Given the description of an element on the screen output the (x, y) to click on. 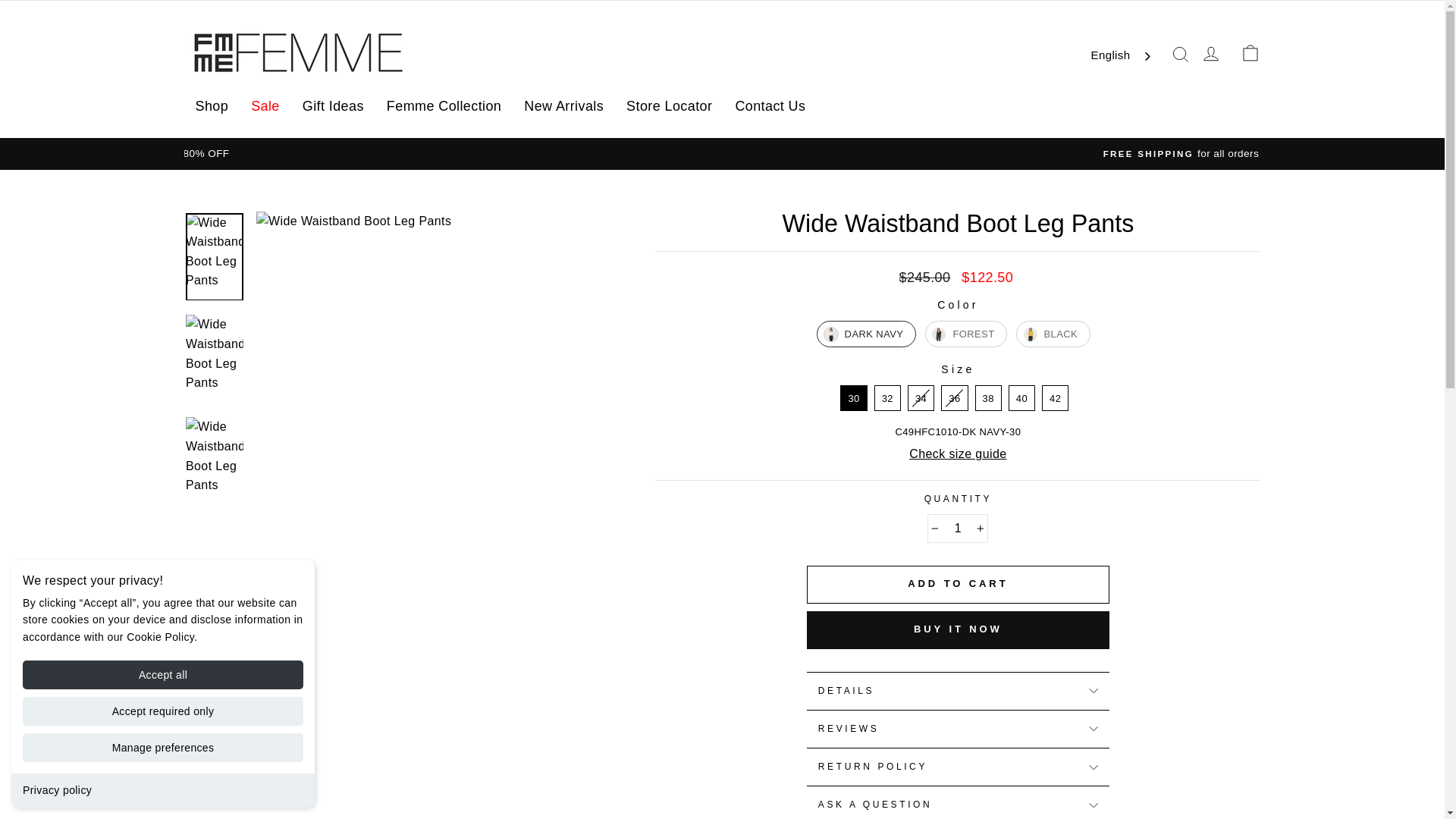
1 (957, 528)
Privacy policy (57, 789)
Accept all (162, 674)
Manage preferences (162, 747)
Accept required only (162, 710)
